Given the description of an element on the screen output the (x, y) to click on. 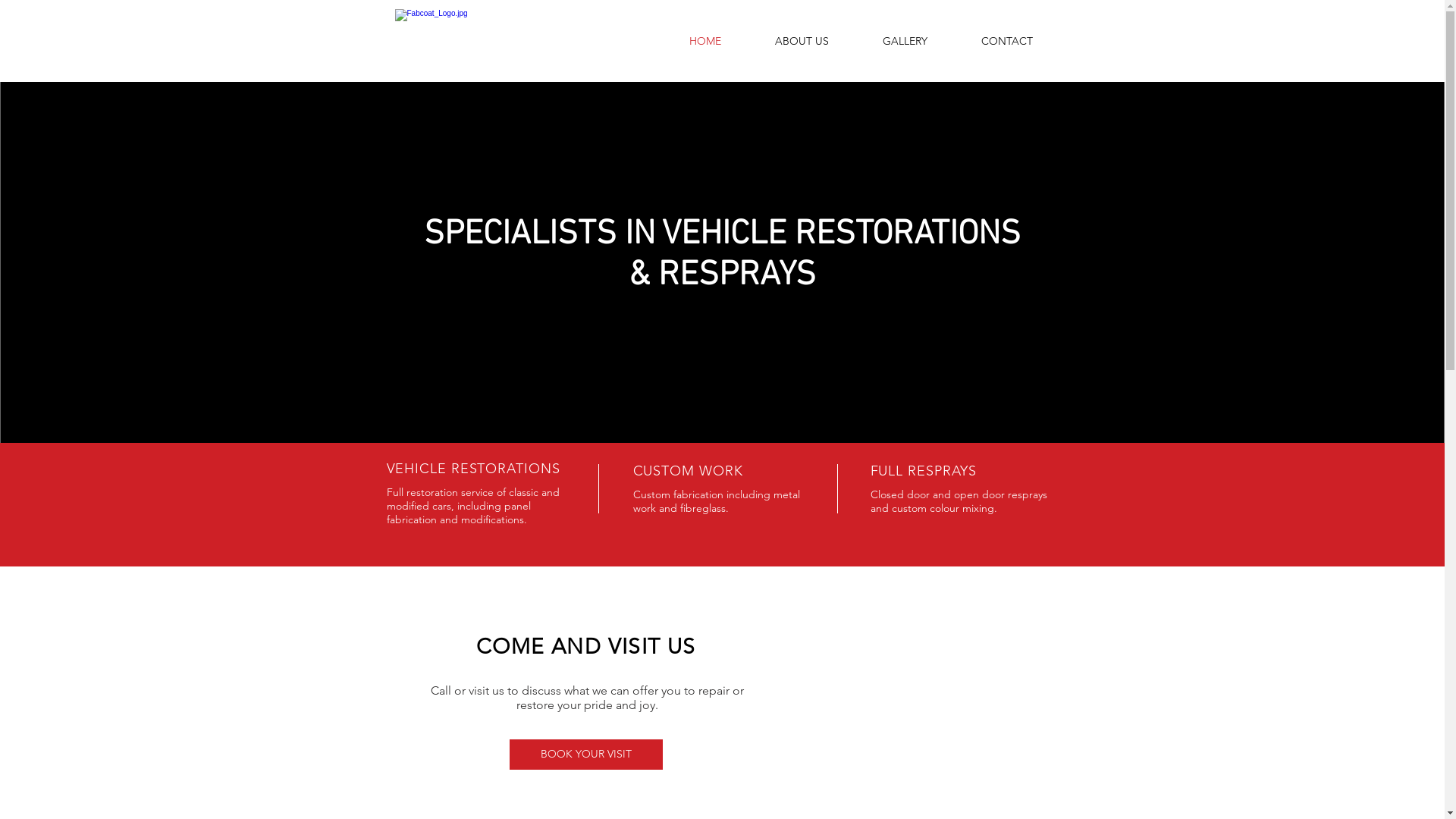
BOOK YOUR VISIT Element type: text (585, 754)
CONTACT Element type: text (1005, 40)
HOME Element type: text (705, 40)
GALLERY Element type: text (904, 40)
Google Maps Element type: hover (932, 709)
ABOUT US Element type: text (801, 40)
